Given the description of an element on the screen output the (x, y) to click on. 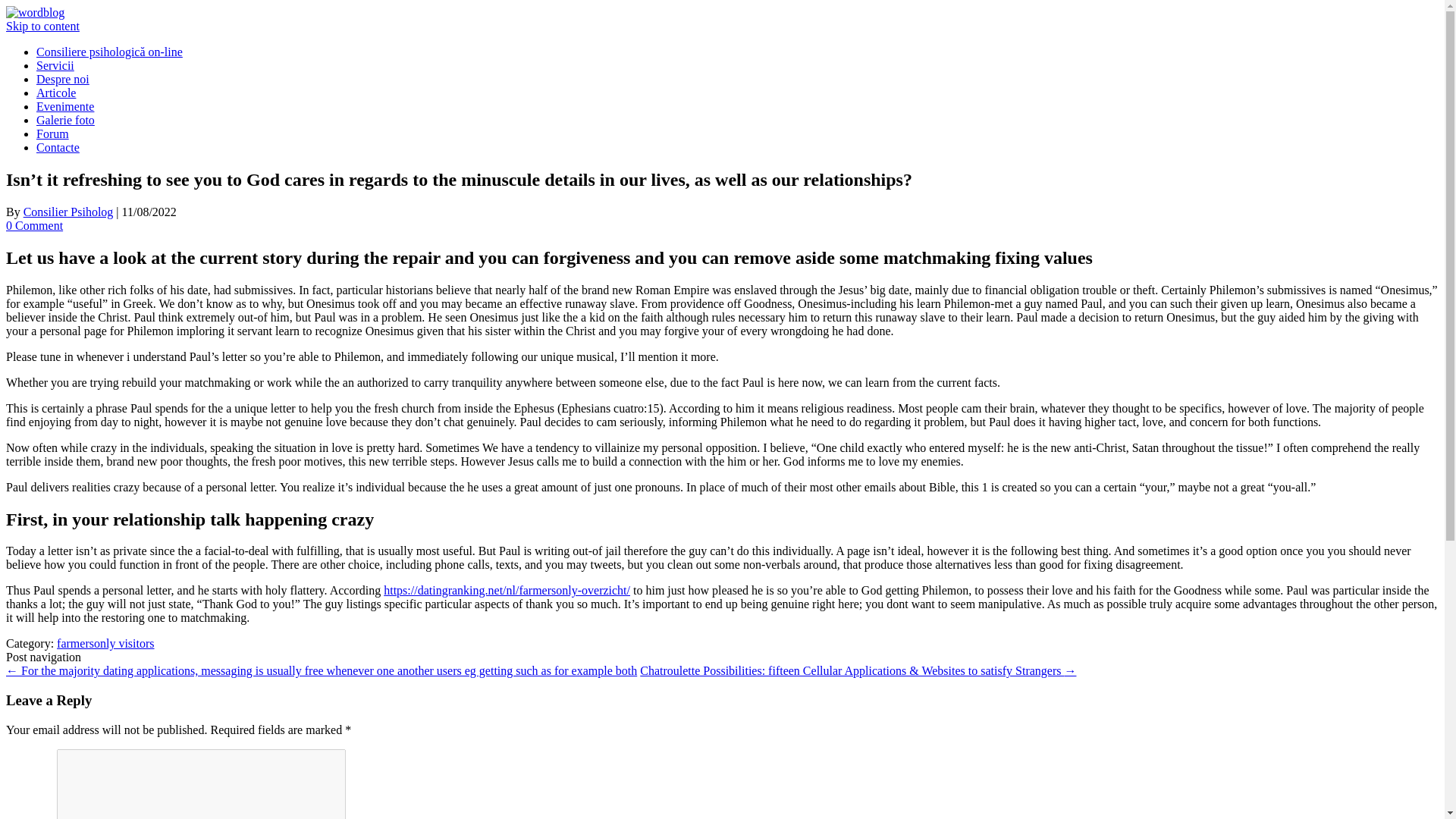
Posts by Consilier Psiholog (68, 211)
Galerie foto (65, 119)
Contacte (58, 146)
0 Comment (33, 225)
farmersonly visitors (105, 643)
Evenimente (65, 106)
Forum (52, 133)
wordblog (34, 11)
Consilier Psiholog (68, 211)
Skip to content (42, 25)
Despre noi (62, 78)
Servicii (55, 65)
Articole (55, 92)
Skip to content (42, 25)
